Given the description of an element on the screen output the (x, y) to click on. 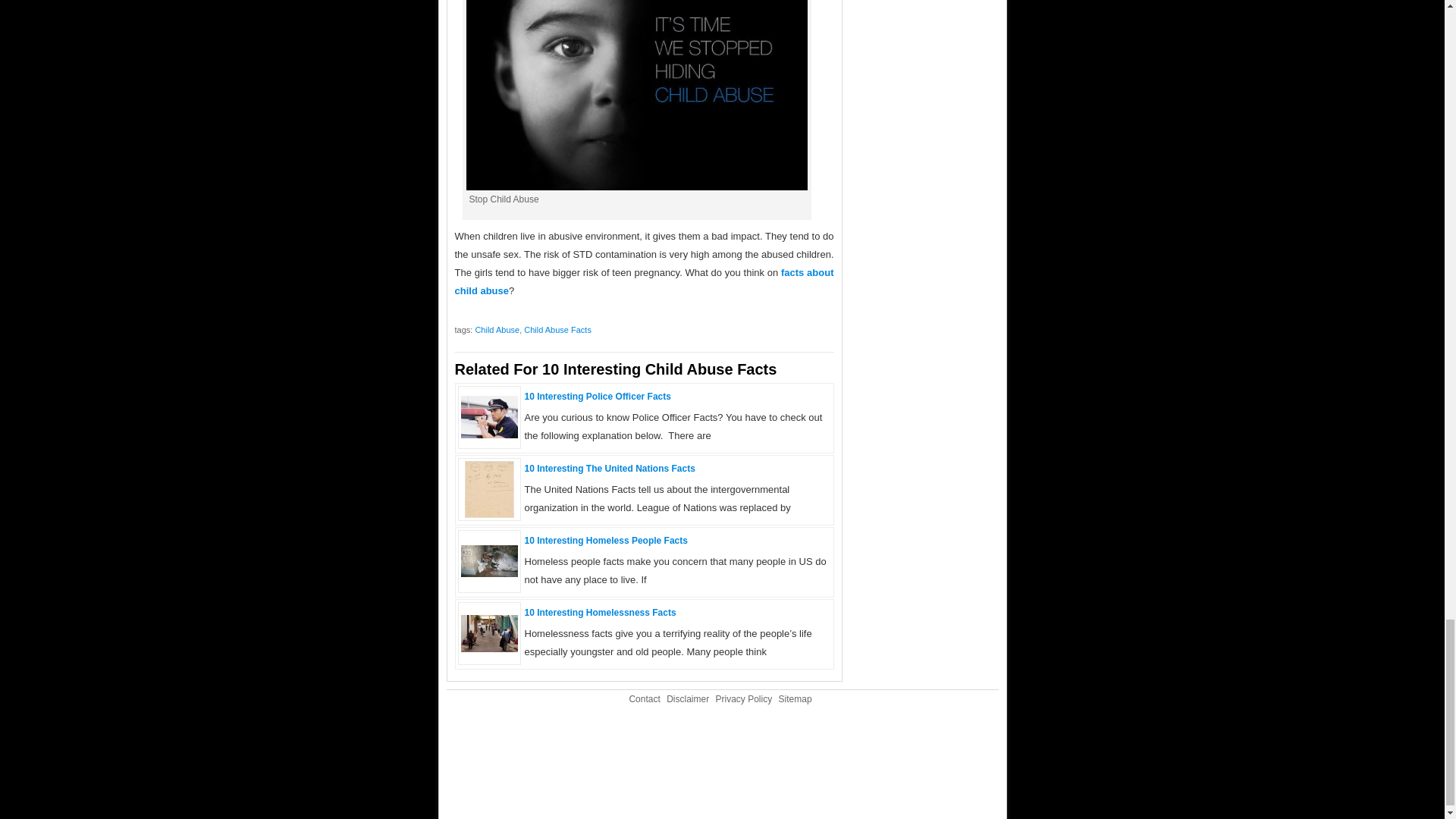
facts about child abuse (644, 281)
10 Interesting the United Nations Facts (488, 514)
10 Interesting Homeless People Facts (489, 573)
10 Interesting Police Officer Facts (597, 396)
10 Interesting The United Nations Facts (609, 468)
10 Interesting Police Officer Facts (597, 396)
10 Interesting Police Officer Facts (489, 434)
10 Interesting Homelessness Facts (489, 648)
10 Interesting Homeless People Facts (605, 540)
Child Abuse (496, 329)
